Given the description of an element on the screen output the (x, y) to click on. 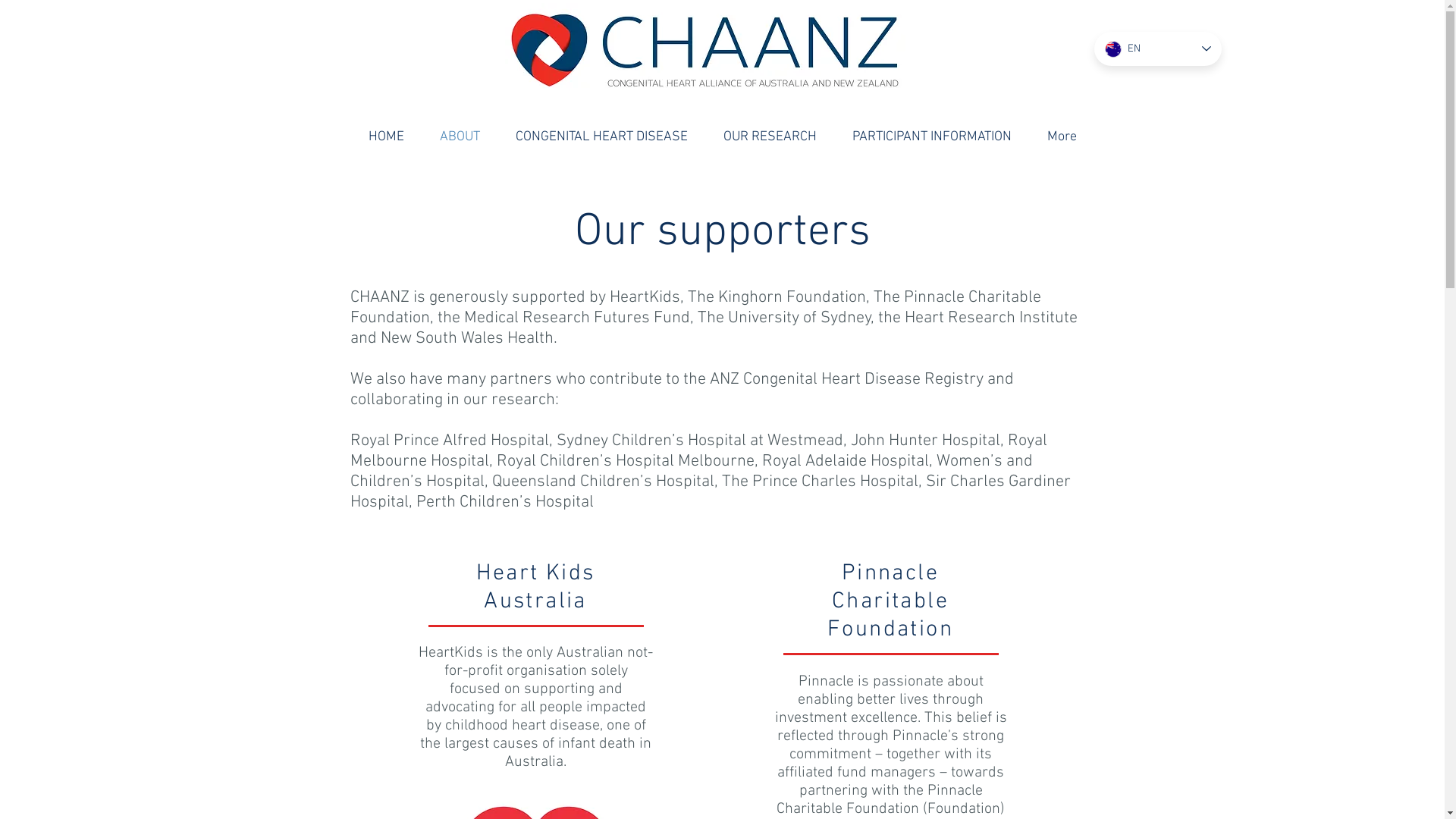
CONGENITAL HEART DISEASE Element type: text (601, 134)
HOME Element type: text (385, 134)
PARTICIPANT INFORMATION Element type: text (931, 134)
ABOUT Element type: text (459, 134)
OUR RESEARCH Element type: text (769, 134)
